Given the description of an element on the screen output the (x, y) to click on. 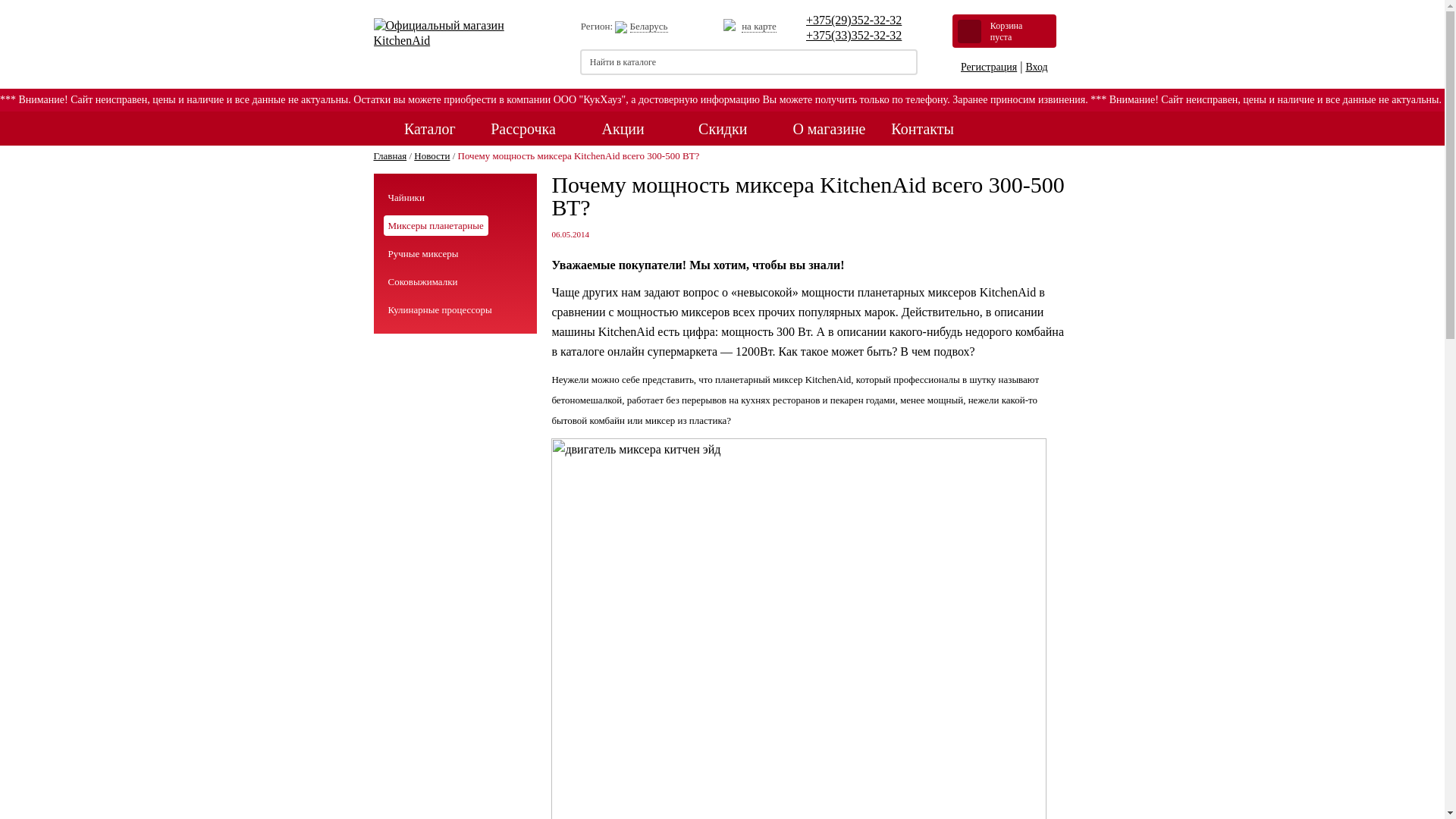
+375(33)352-32-32 Element type: text (853, 34)
+375(29)352-32-32 Element type: text (853, 19)
